Given the description of an element on the screen output the (x, y) to click on. 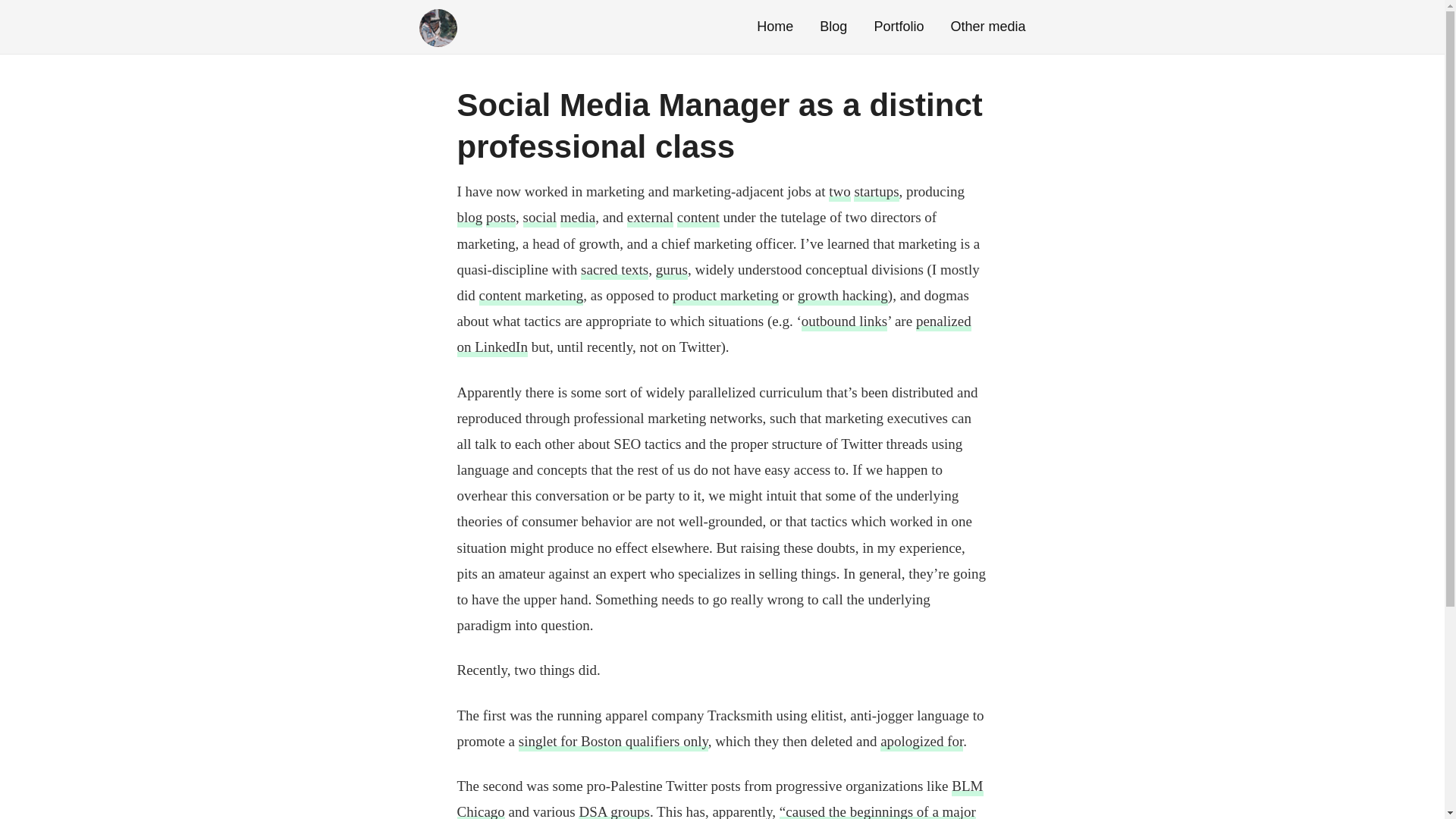
Other media (987, 26)
growth hacking (842, 296)
blog (469, 218)
media (577, 218)
singlet for Boston qualifiers only (612, 742)
Blog (833, 26)
social (539, 218)
DSA groups (613, 811)
sacred texts (613, 270)
gurus (671, 270)
